Given the description of an element on the screen output the (x, y) to click on. 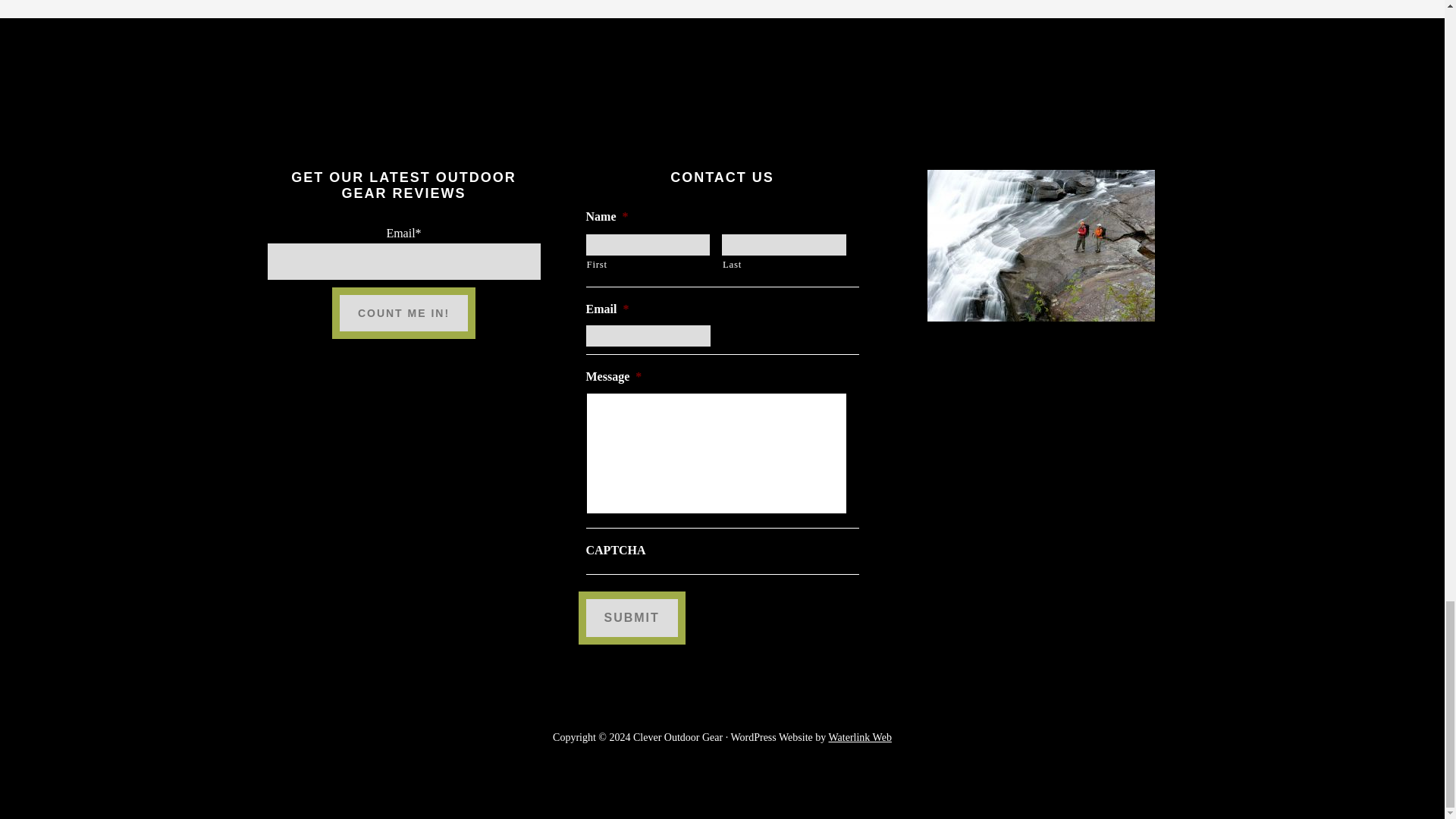
Waterlink Web (859, 737)
Count me in! (403, 312)
Submit (631, 617)
